Given the description of an element on the screen output the (x, y) to click on. 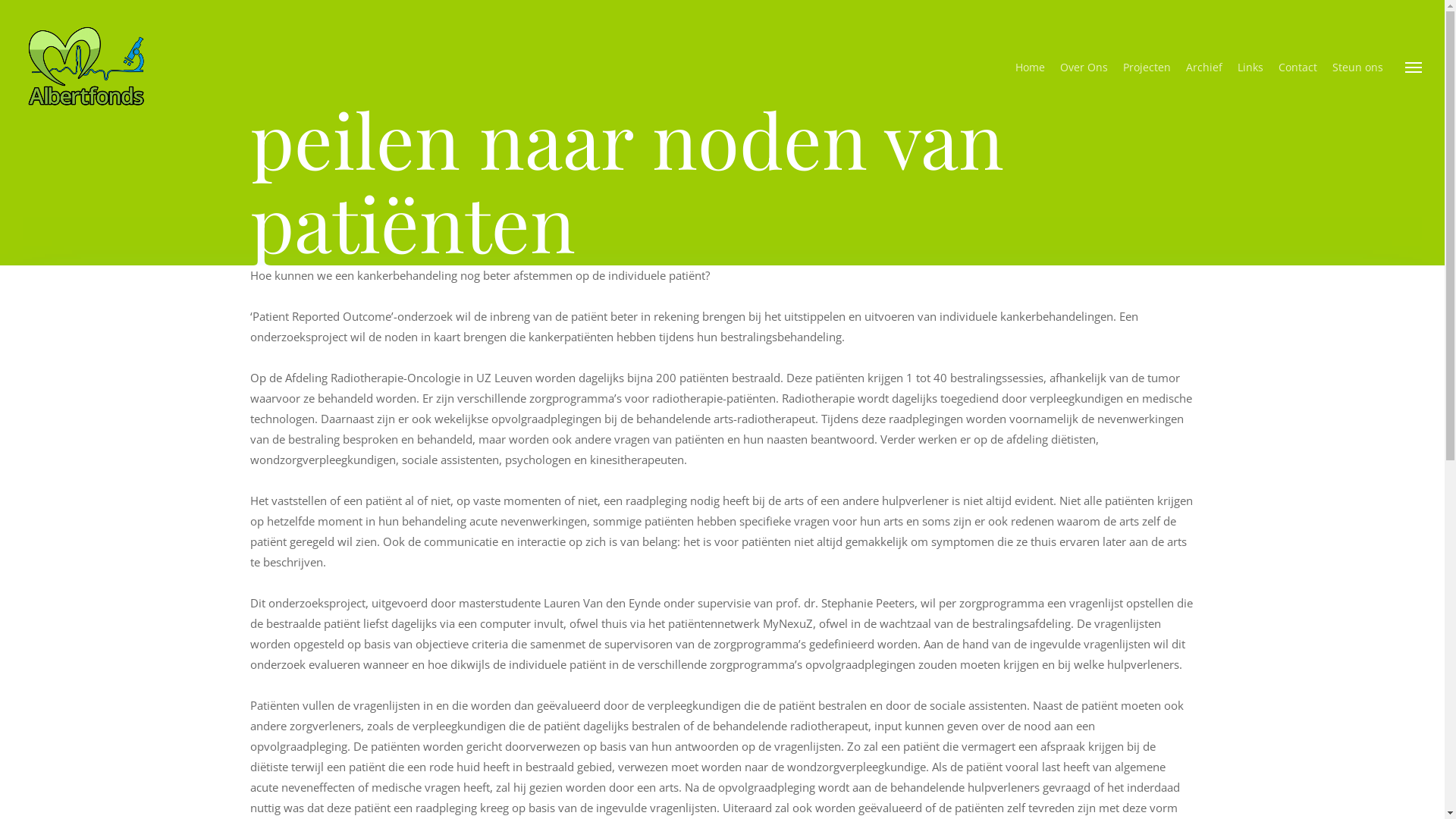
Contact Element type: text (1297, 67)
Menu Element type: text (1414, 66)
Privacy Policy Element type: text (510, 715)
facebook Element type: text (1190, 698)
Archief Element type: text (1204, 67)
Projecten Element type: text (1146, 67)
Over Ons Element type: text (1083, 67)
Links Element type: text (1250, 67)
Privacybeleid KU Leuven Element type: text (420, 715)
Steun ons Element type: text (1357, 67)
Home Element type: text (1029, 67)
